Given the description of an element on the screen output the (x, y) to click on. 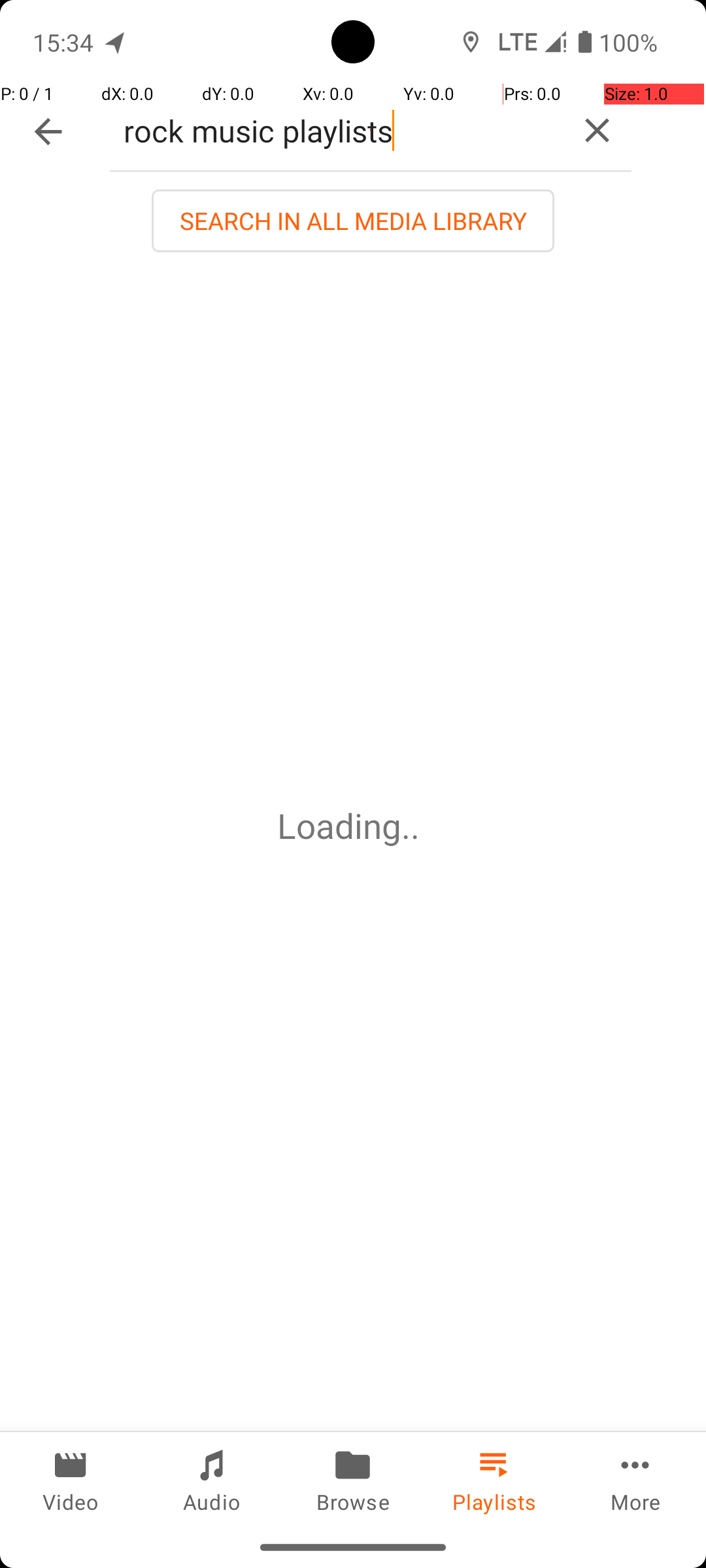
SEARCH IN ALL MEDIA LIBRARY Element type: android.widget.Button (352, 220)
rock music playlists Element type: android.widget.AutoCompleteTextView (335, 130)
